Given the description of an element on the screen output the (x, y) to click on. 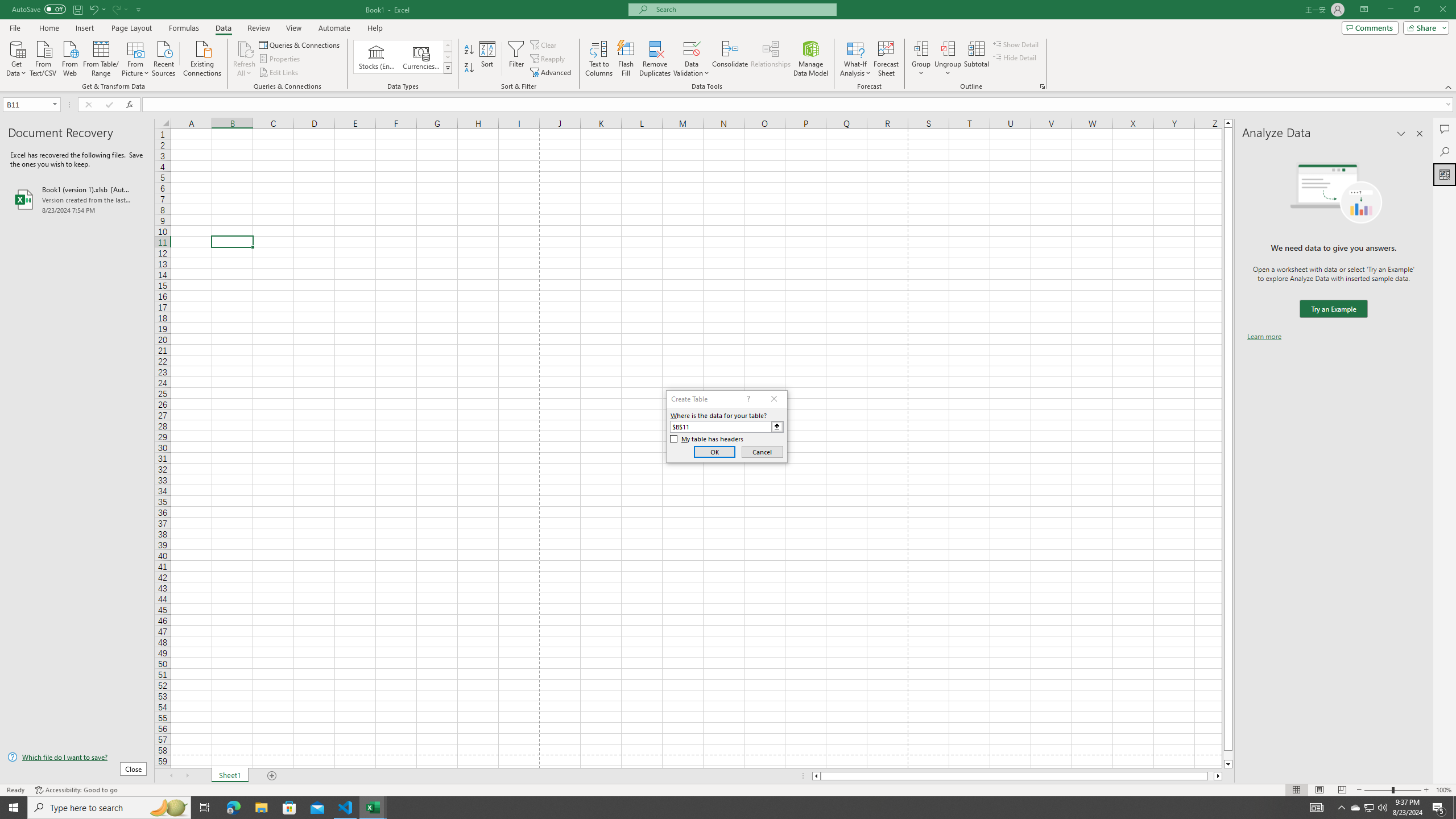
Consolidate... (729, 58)
